Given the description of an element on the screen output the (x, y) to click on. 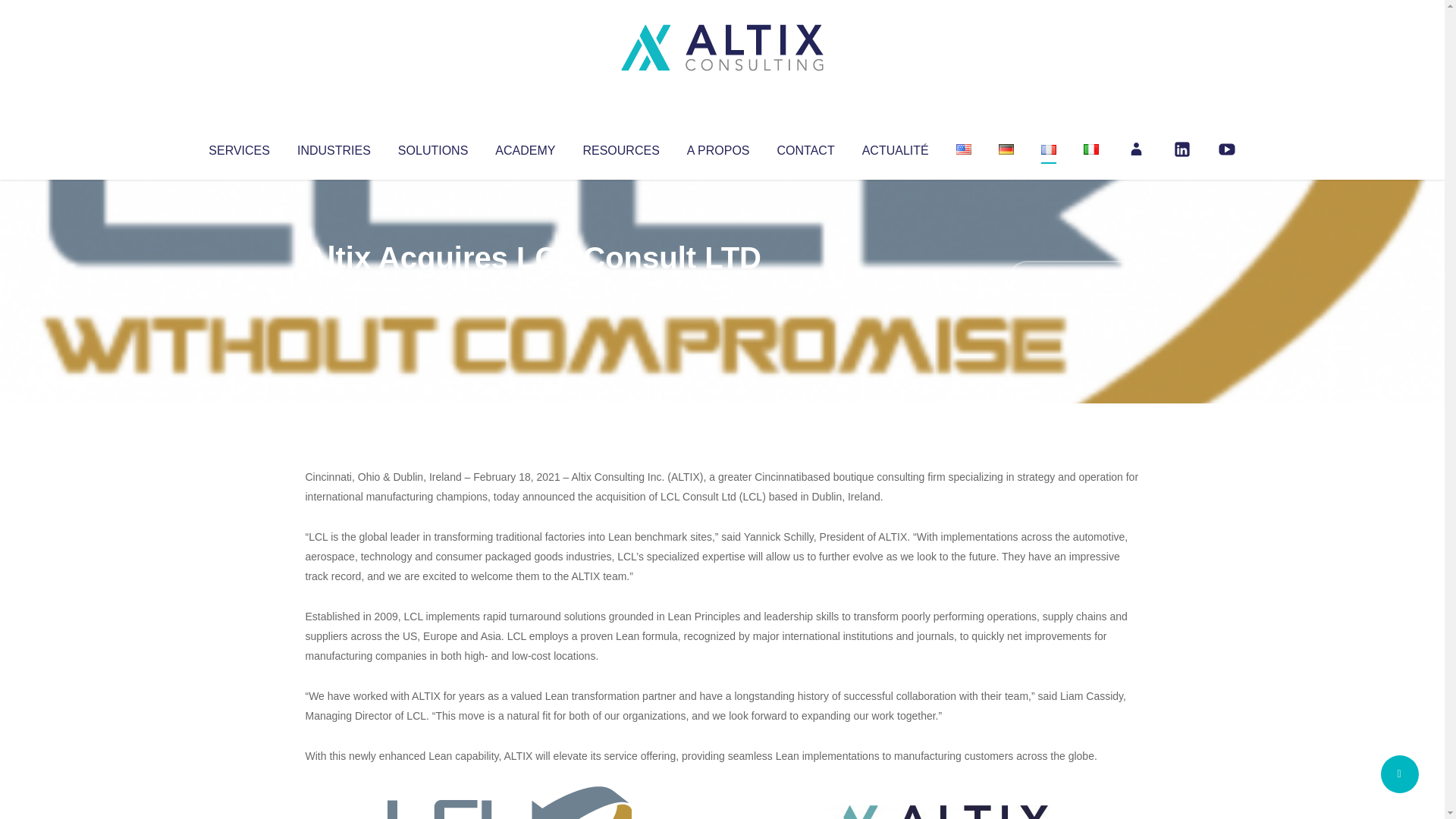
ACADEMY (524, 146)
INDUSTRIES (334, 146)
SOLUTIONS (432, 146)
Uncategorized (530, 287)
Altix (333, 287)
RESOURCES (620, 146)
No Comments (1073, 278)
A PROPOS (718, 146)
Articles par Altix (333, 287)
SERVICES (238, 146)
